Given the description of an element on the screen output the (x, y) to click on. 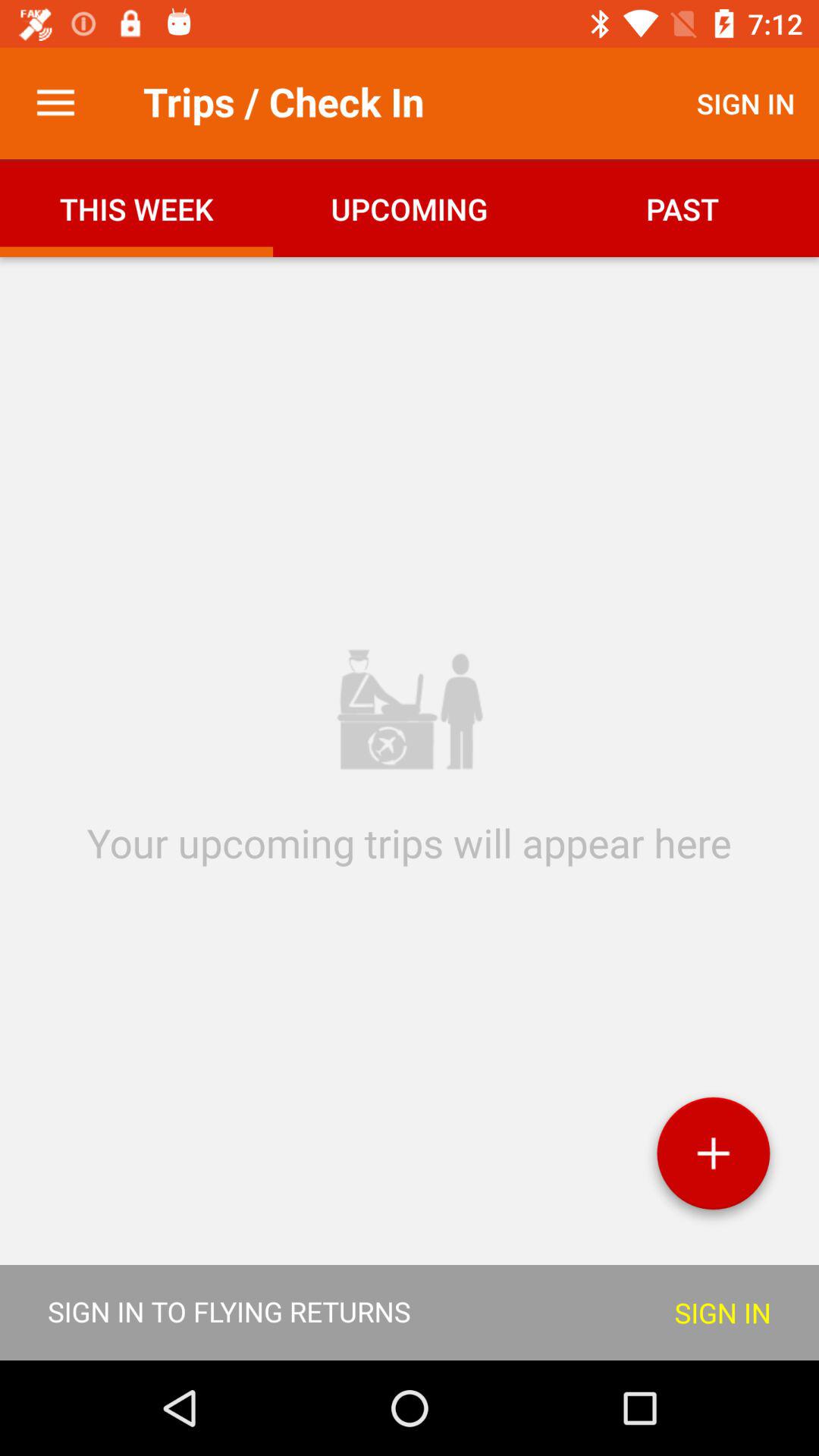
press icon above sign in icon (713, 1159)
